Given the description of an element on the screen output the (x, y) to click on. 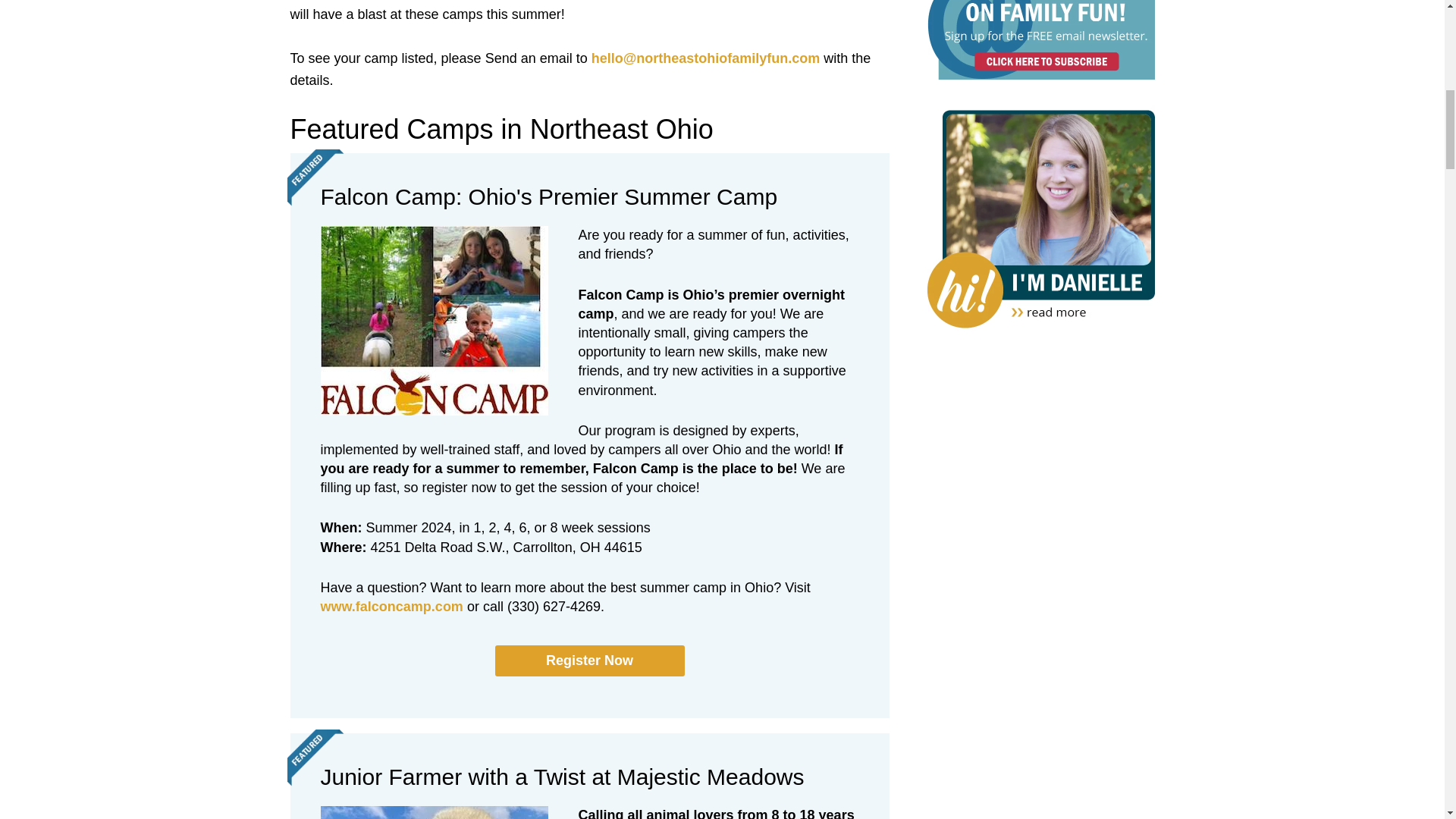
www.falconcamp.com (391, 606)
Register Now (589, 660)
